Given the description of an element on the screen output the (x, y) to click on. 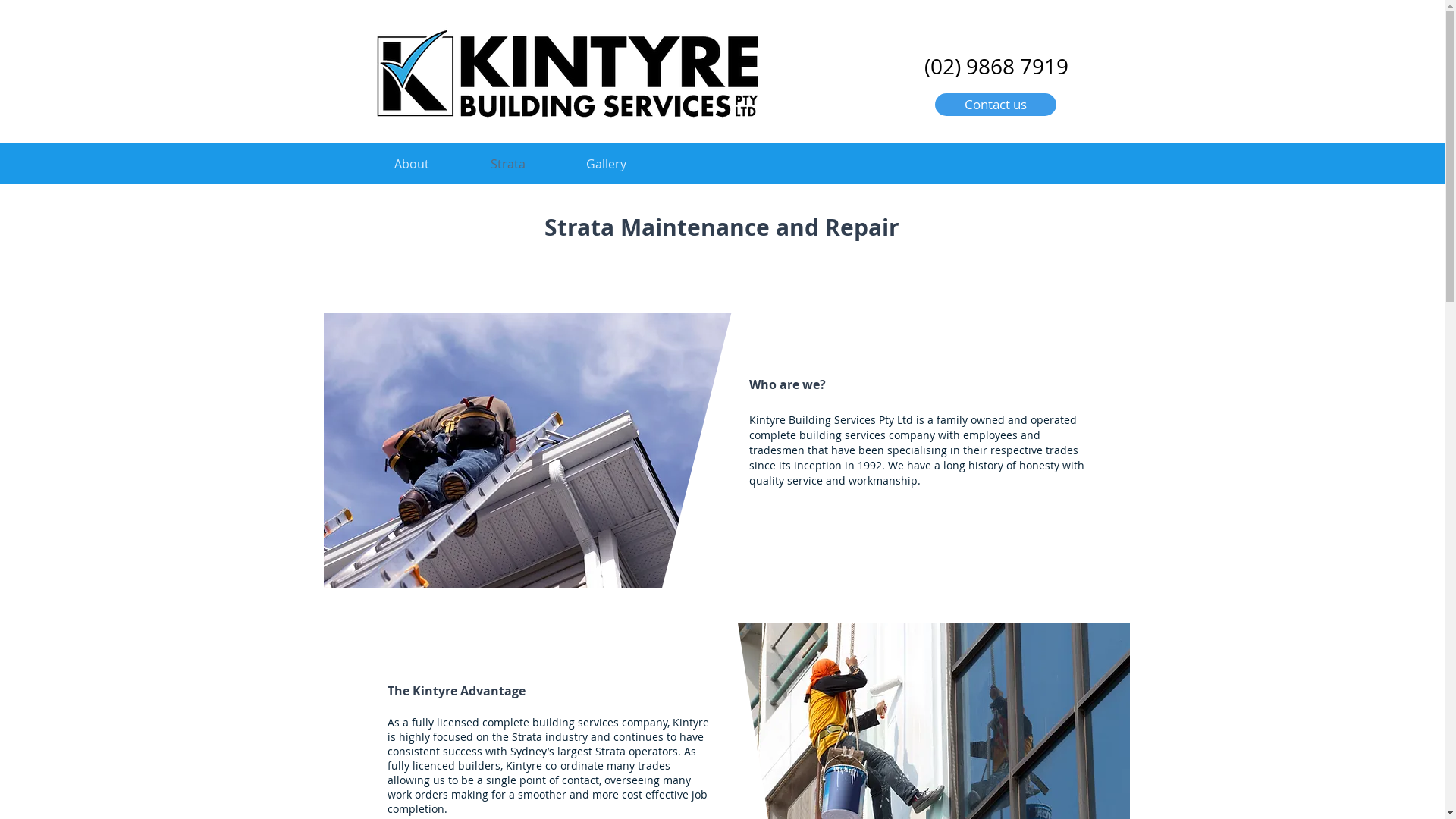
Climbing a Ladder Element type: hover (535, 450)
Strata Element type: text (507, 163)
About Element type: text (412, 163)
Gallery Element type: text (605, 163)
Contact us Element type: text (994, 104)
